Given the description of an element on the screen output the (x, y) to click on. 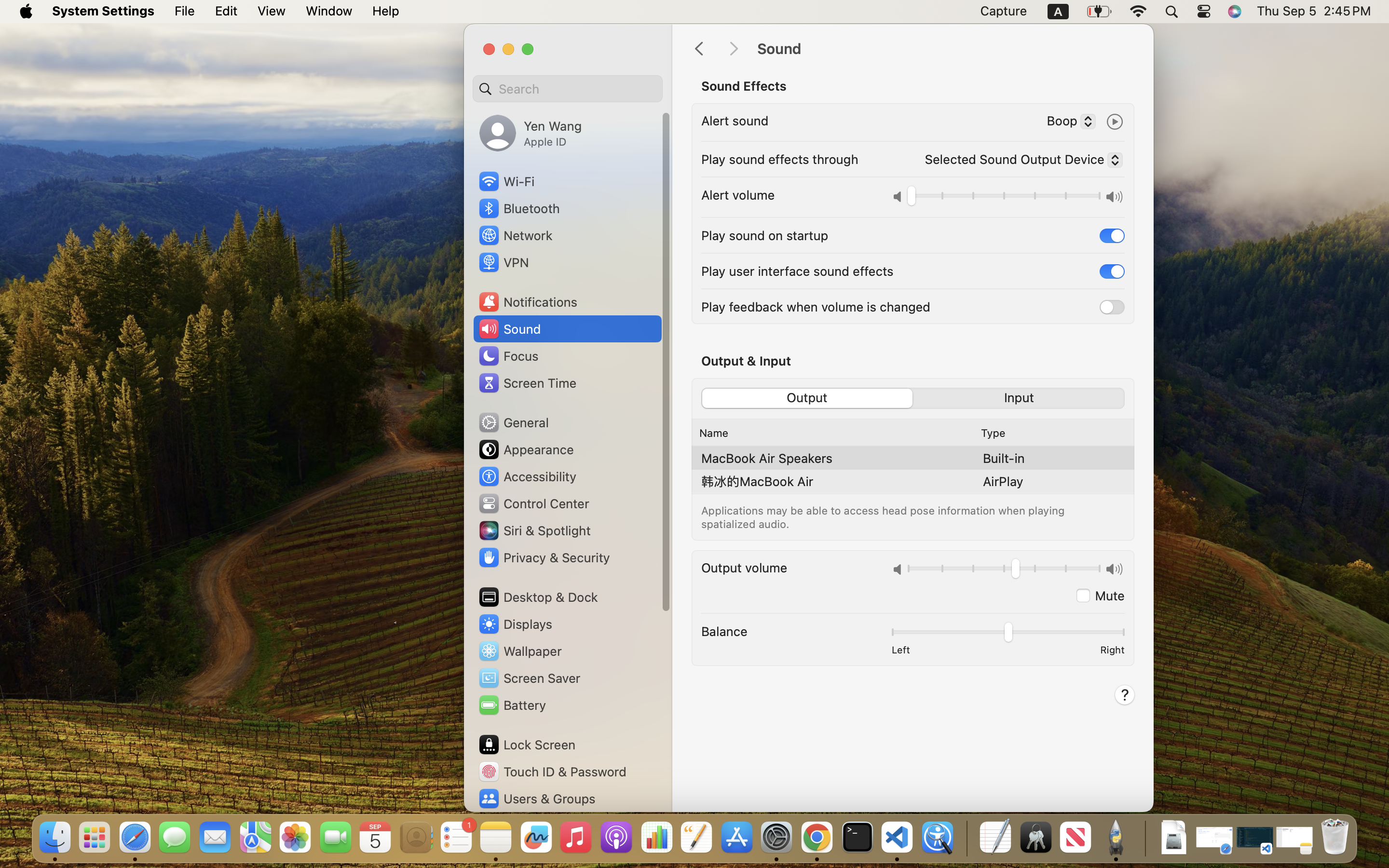
Network Element type: AXStaticText (514, 234)
Play feedback when volume is changed Element type: AXStaticText (815, 306)
<AXUIElement 0x126c10c50> {pid=2664} Element type: AXTabGroup (912, 397)
Desktop & Dock Element type: AXStaticText (537, 596)
